Given the description of an element on the screen output the (x, y) to click on. 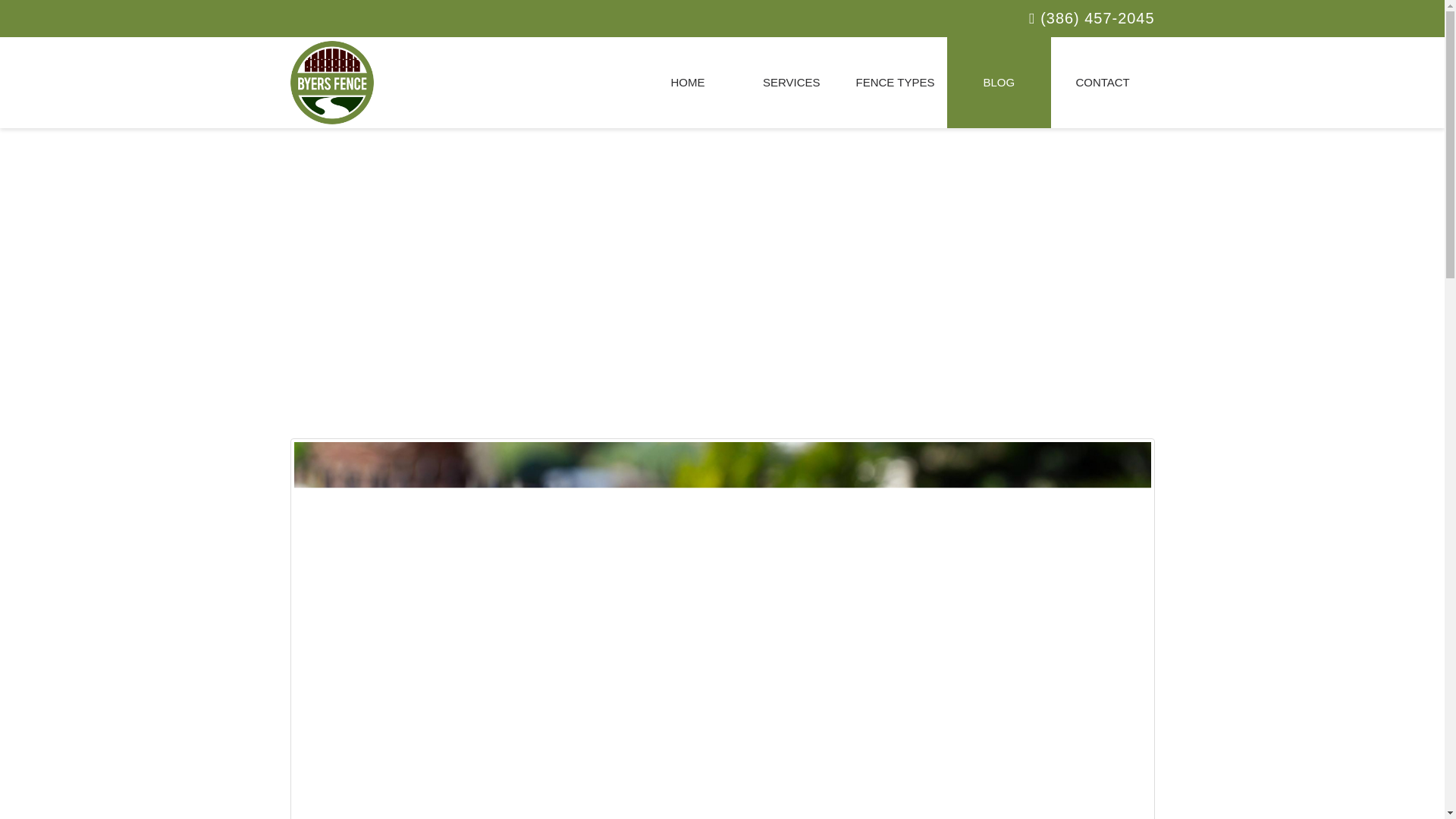
SERVICES (791, 81)
HOME (686, 81)
Home (686, 81)
Fence Types (895, 81)
Blog (999, 81)
BLOG (999, 81)
CONTACT (1102, 81)
FENCE TYPES (895, 81)
Services (791, 81)
Contact (1102, 81)
